Given the description of an element on the screen output the (x, y) to click on. 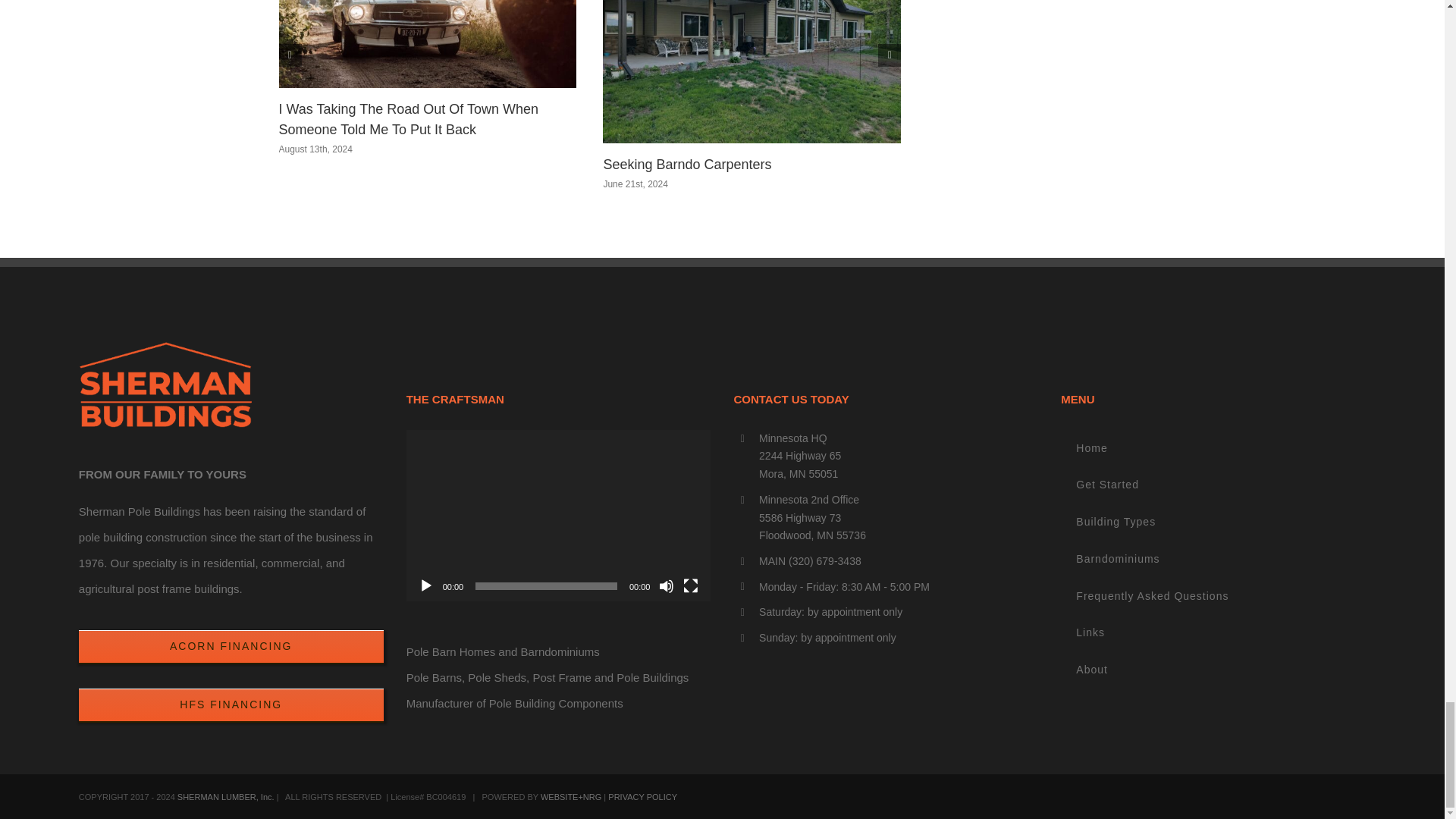
Play (426, 585)
Seeking Barndo Carpenters (686, 164)
